Given the description of an element on the screen output the (x, y) to click on. 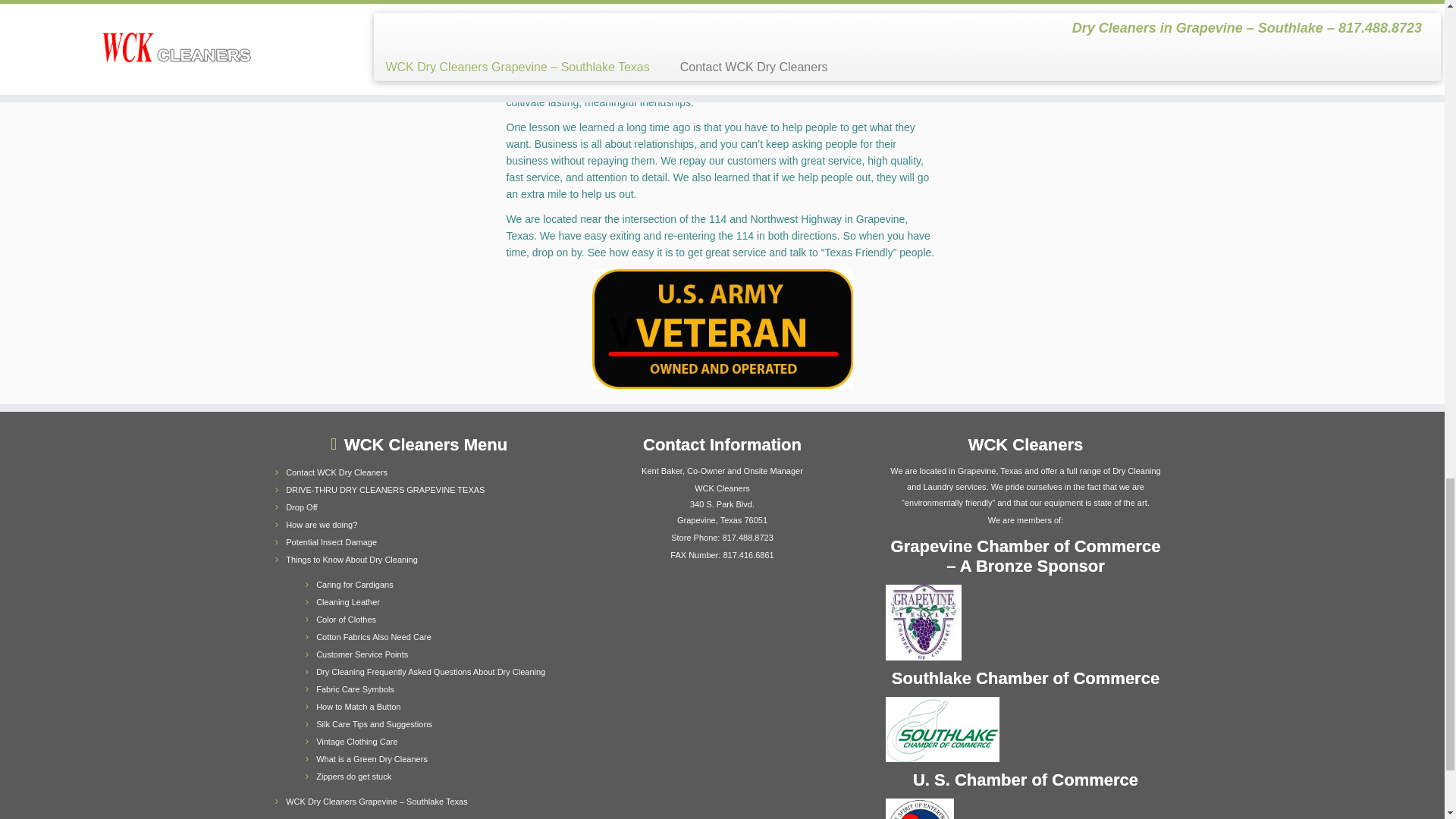
Drop Off (301, 506)
What is a Green Dry Cleaners (371, 758)
Vintage Clothing Care (356, 741)
Fabric Care Symbols (354, 688)
Silk Care Tips and Suggestions (373, 723)
Cleaning Leather (347, 601)
Potential Insect Damage (331, 542)
Contact WCK Dry Cleaners (336, 471)
Zippers do get stuck (353, 776)
Caring for Cardigans (354, 583)
Customer Service Points (361, 654)
Color of Clothes (345, 619)
DRIVE-THRU DRY CLEANERS GRAPEVINE TEXAS (384, 489)
How to Match a Button (357, 706)
Things to Know About Dry Cleaning (351, 559)
